Given the description of an element on the screen output the (x, y) to click on. 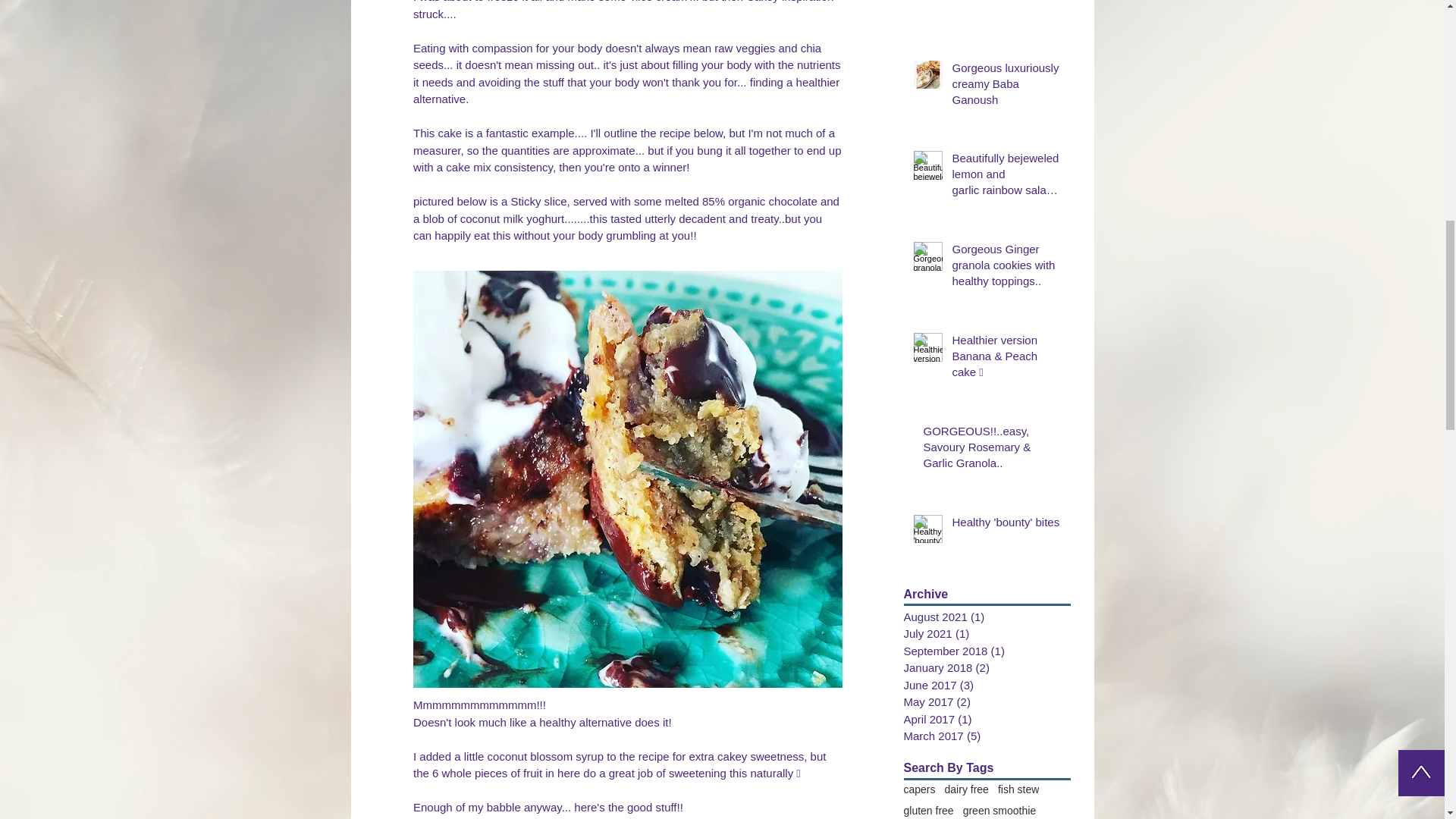
BANG BANG Cauliflower!! (1006, 3)
Gorgeous luxuriously creamy Baba Ganoush (1006, 86)
